Given the description of an element on the screen output the (x, y) to click on. 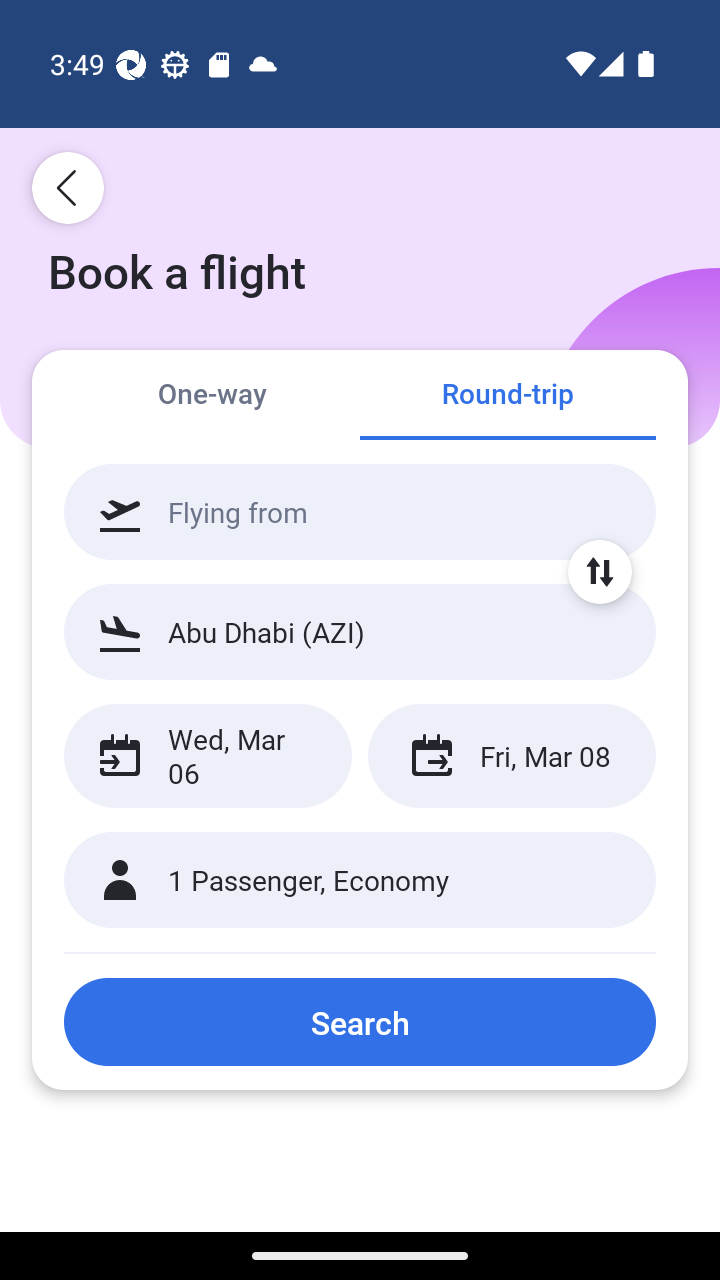
One-way (212, 394)
Flying from (359, 511)
Abu Dhabi (AZI) (359, 631)
Wed, Mar 06 (208, 755)
Fri, Mar 08 (511, 755)
1 Passenger, Economy (359, 880)
Search (359, 1022)
